Given the description of an element on the screen output the (x, y) to click on. 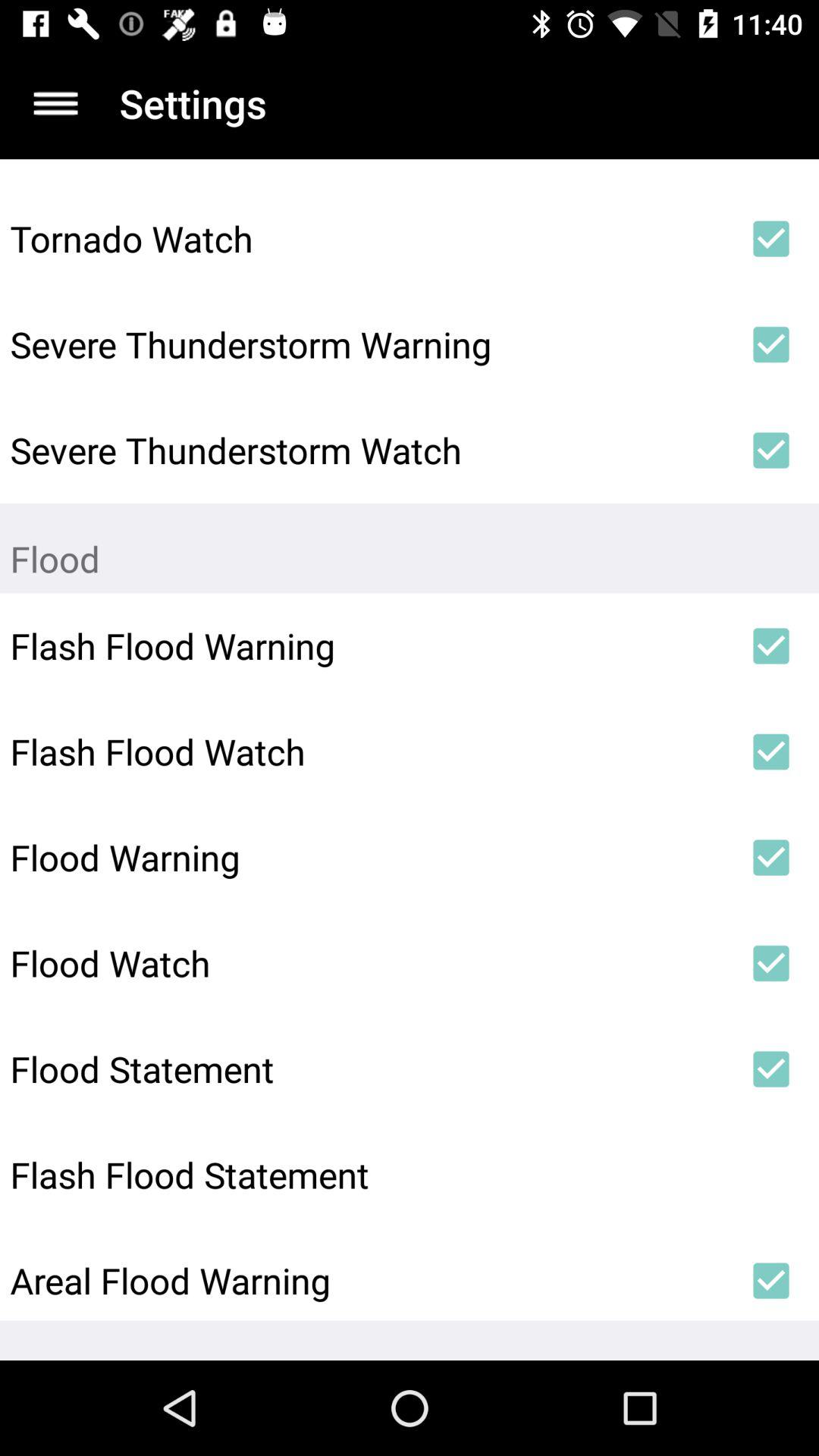
choose the item next to the areal flood warning (771, 1280)
